Given the description of an element on the screen output the (x, y) to click on. 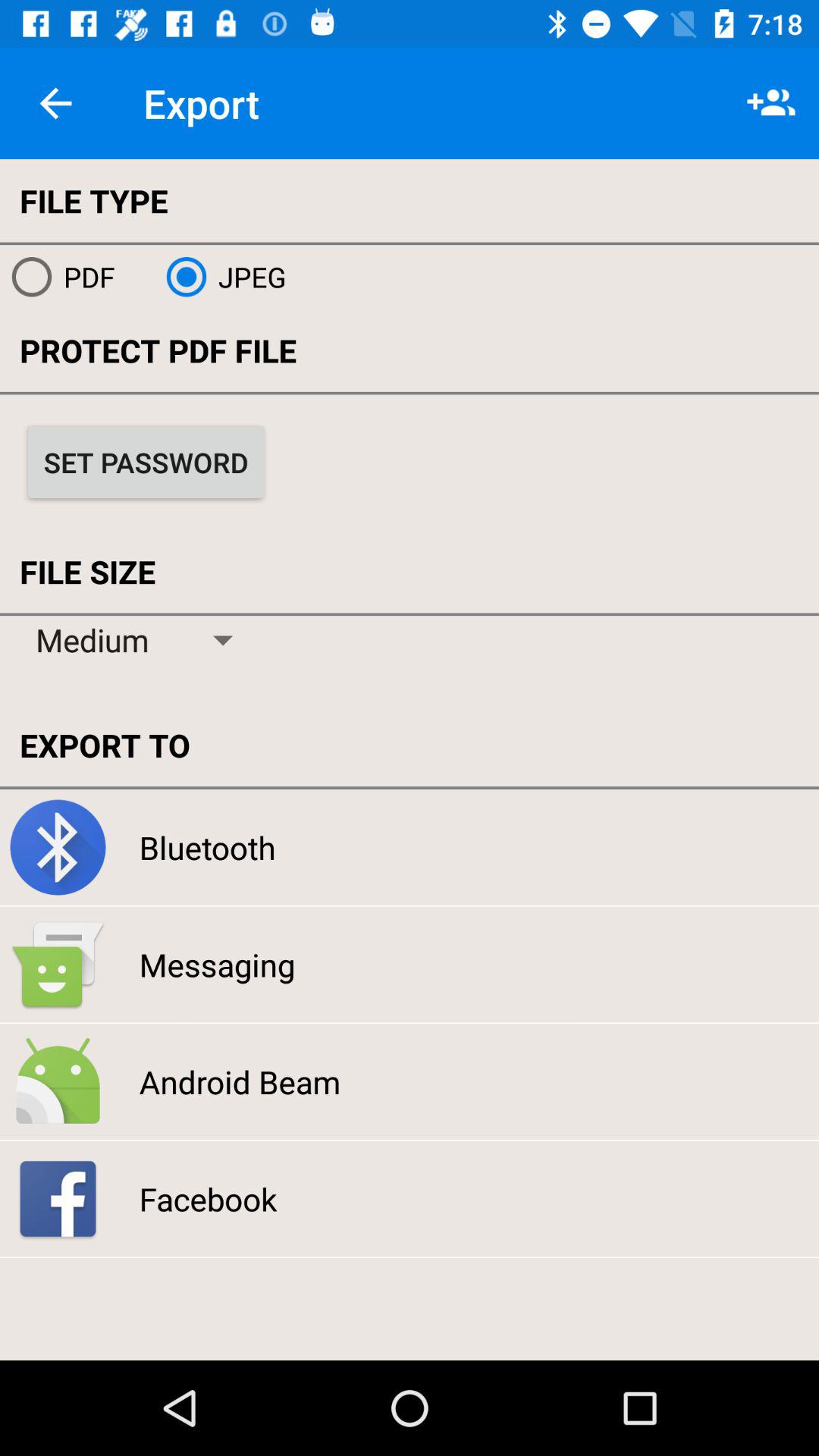
open the set password item (145, 462)
